Given the description of an element on the screen output the (x, y) to click on. 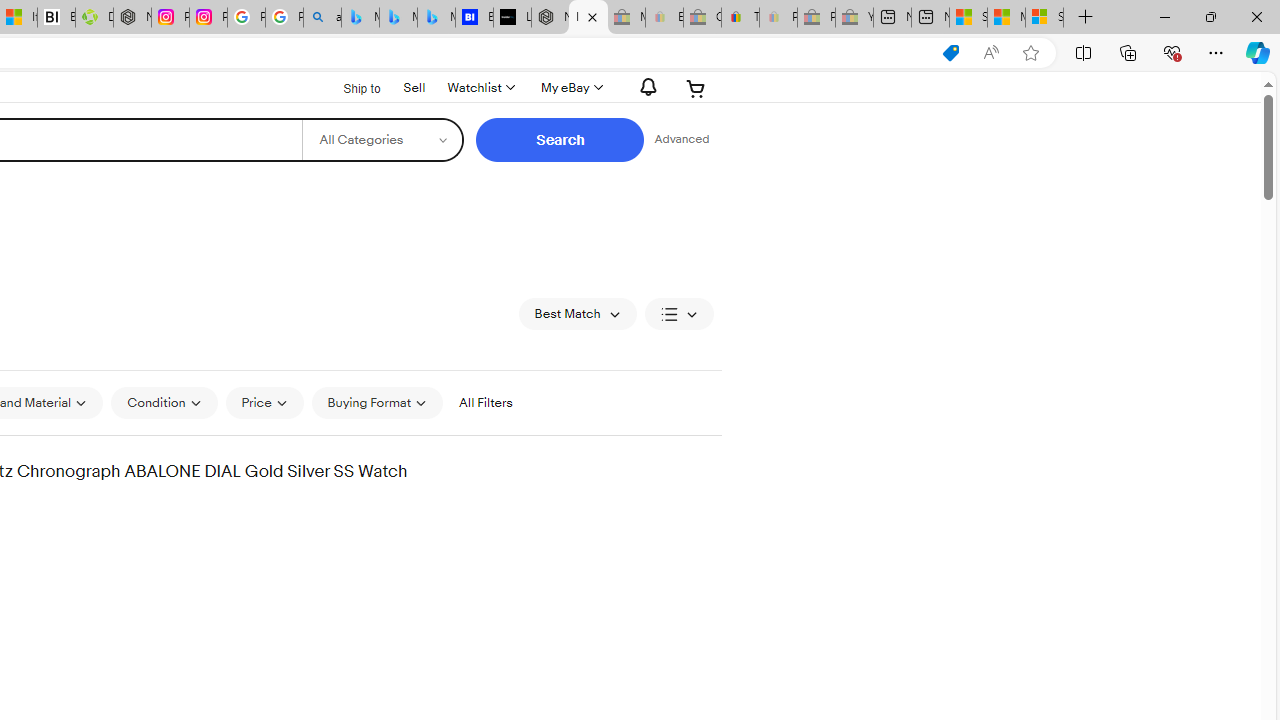
Select a category for search (382, 139)
Nordace - Nordace Edin Collection (132, 17)
Ship to (349, 86)
Threats and offensive language policy | eBay (740, 17)
My eBayExpand My eBay (569, 88)
Buying Format (377, 402)
Shanghai, China hourly forecast | Microsoft Weather (967, 17)
